Given the description of an element on the screen output the (x, y) to click on. 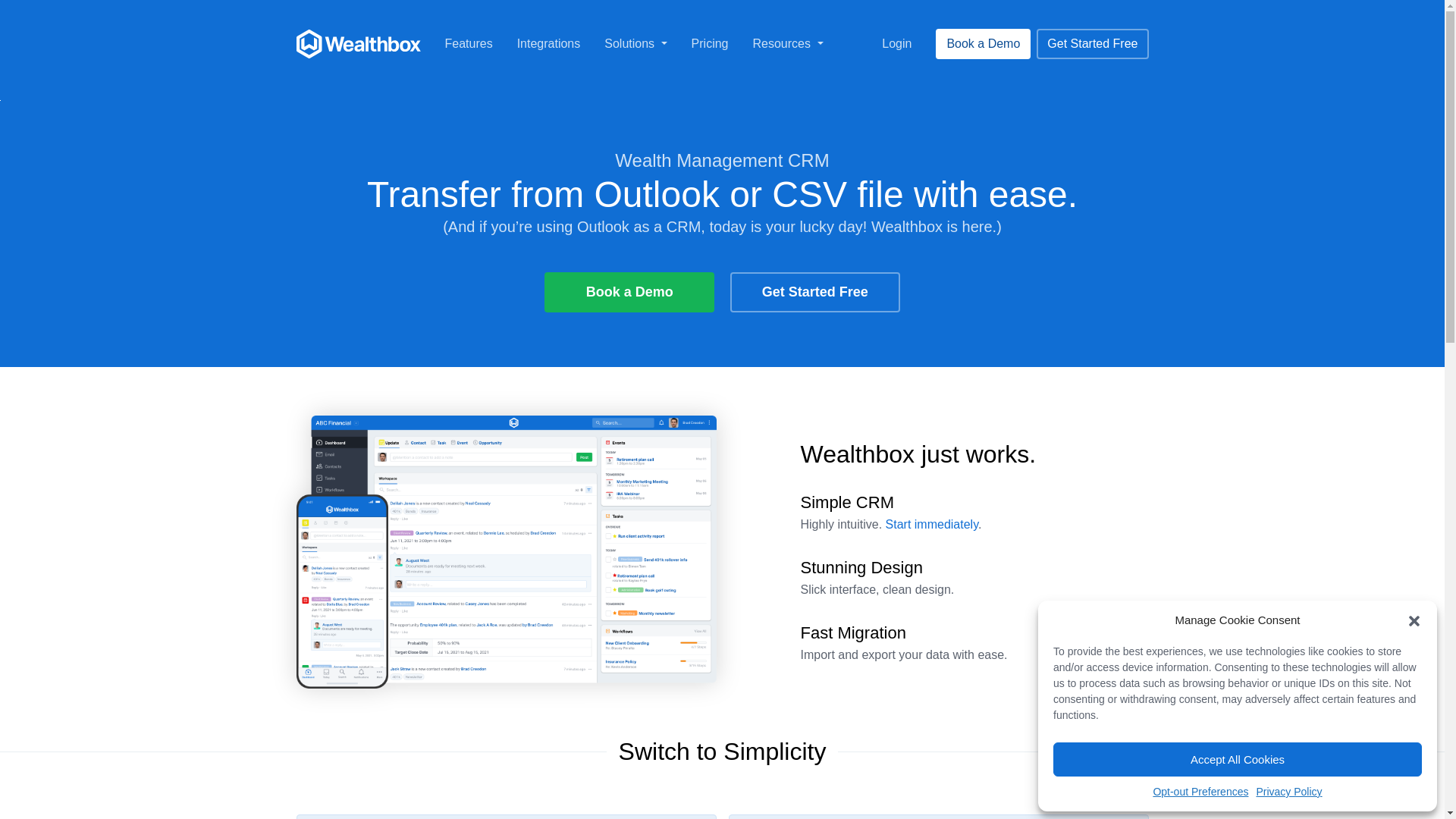
Get Started Free (814, 291)
Book a Demo (983, 43)
Get Started Free (1092, 43)
Resources (357, 44)
Pricing (786, 43)
Features (710, 43)
Book a Demo (467, 43)
Integrations (629, 291)
Features (548, 43)
Resources (467, 43)
Opt-out Preferences (786, 43)
Pricing (1200, 791)
Solutions (710, 43)
Accept All Cookies (635, 43)
